Given the description of an element on the screen output the (x, y) to click on. 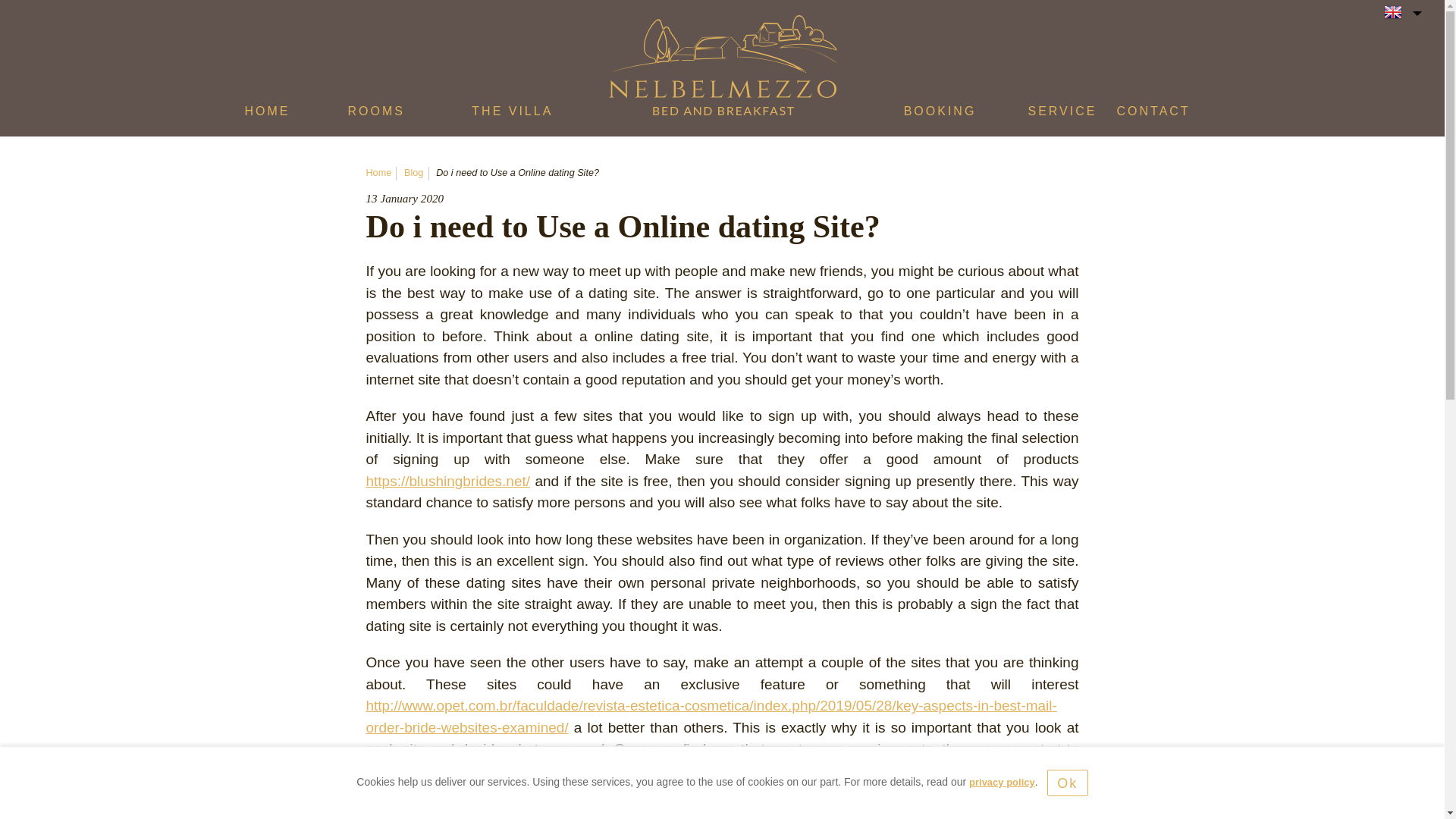
BOOKING (940, 115)
SERVICE (1062, 115)
Blog (413, 172)
ROOMS (375, 115)
THE VILLA (512, 115)
CONTACT (1152, 115)
Ok (1066, 782)
Home (378, 172)
HOME (266, 115)
privacy policy (1002, 781)
Ok (1066, 782)
